Given the description of an element on the screen output the (x, y) to click on. 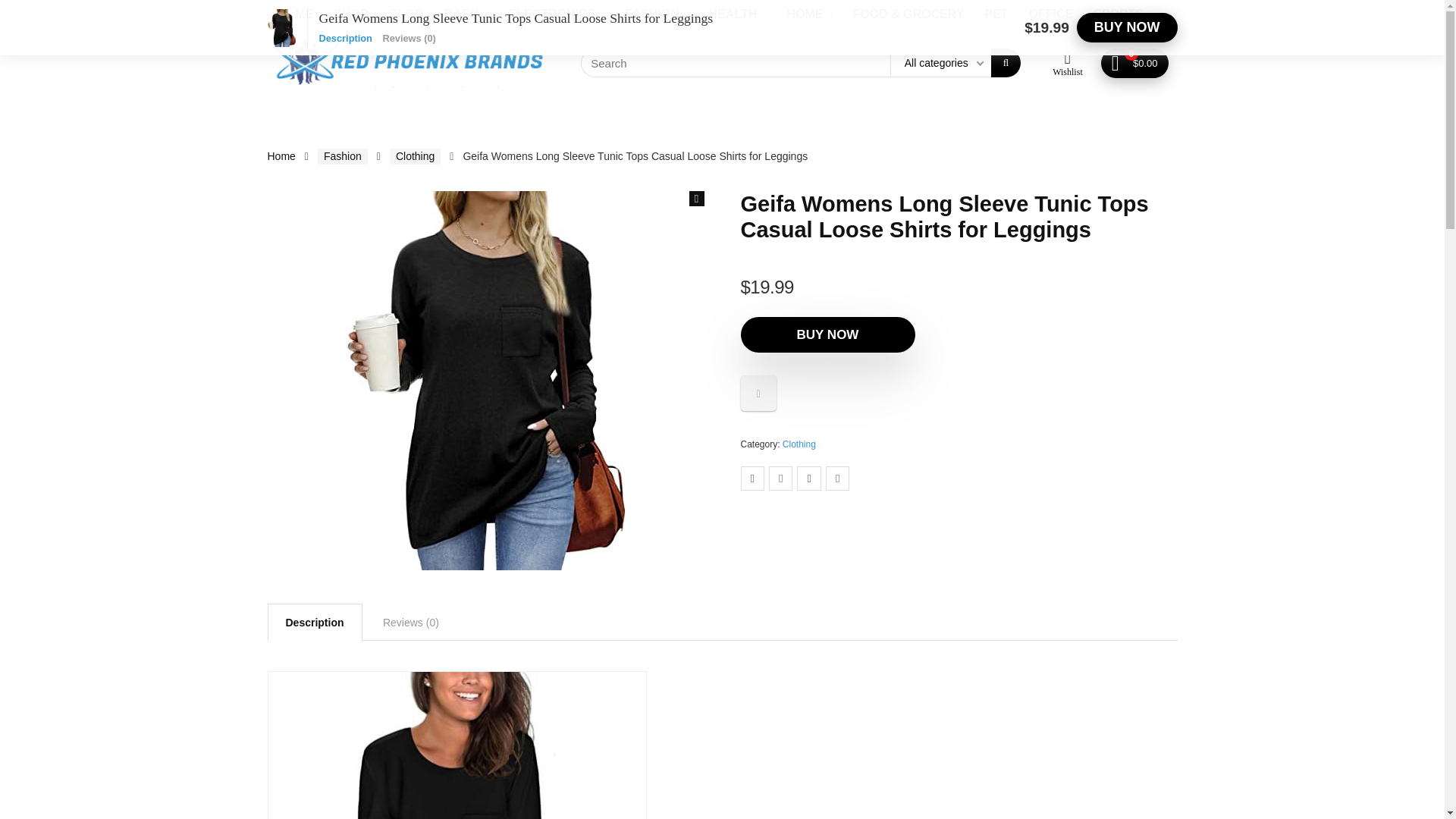
Instagram (346, 12)
Facebook (286, 12)
BLOG (405, 14)
HOME (294, 14)
HEALTH (737, 14)
FASHION (655, 14)
HOME (808, 14)
Twitter (400, 12)
SHOP (351, 14)
ELECTRONICS (556, 14)
BABY (465, 14)
